Given the description of an element on the screen output the (x, y) to click on. 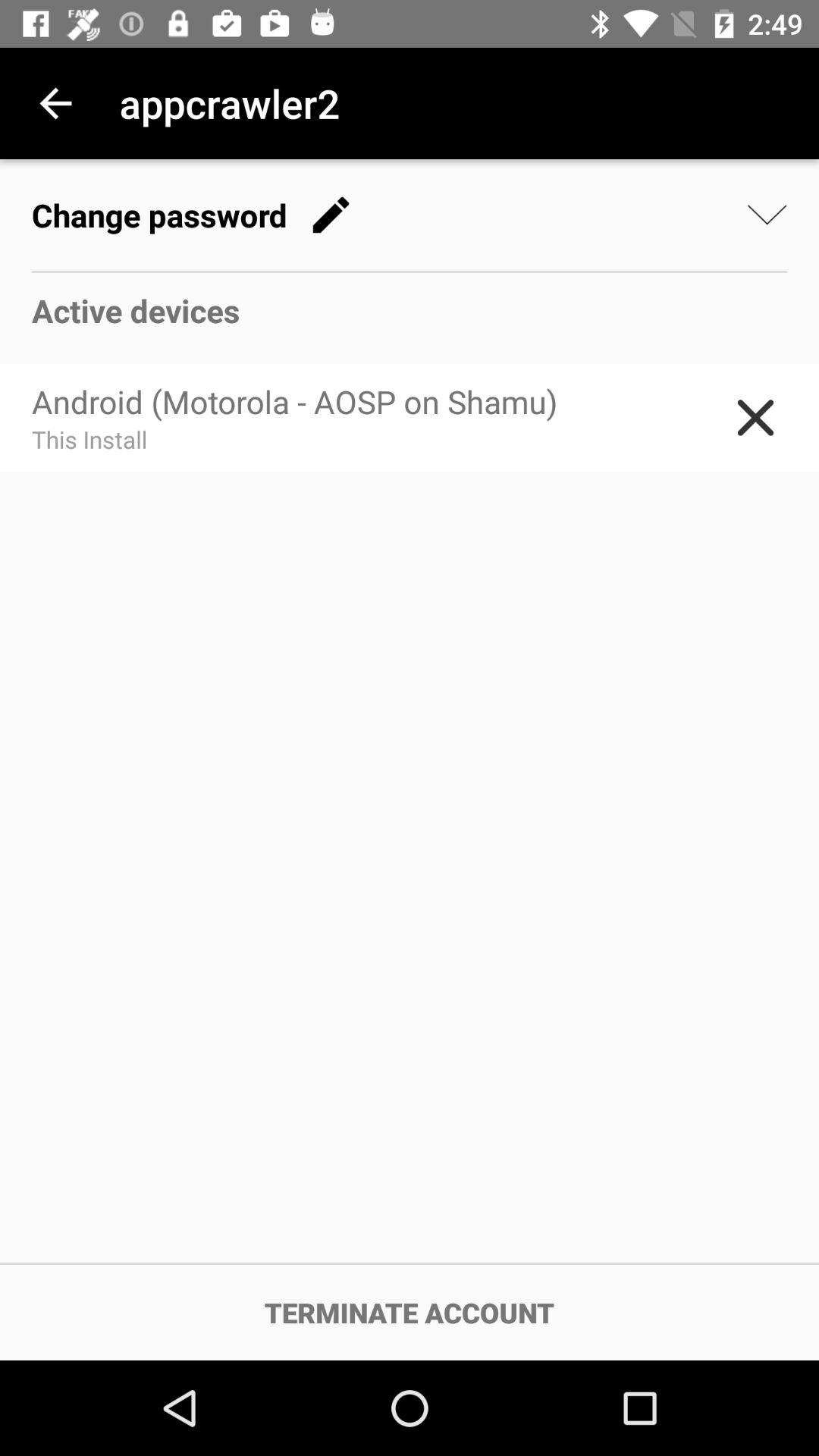
flip to terminate account (409, 1312)
